Given the description of an element on the screen output the (x, y) to click on. 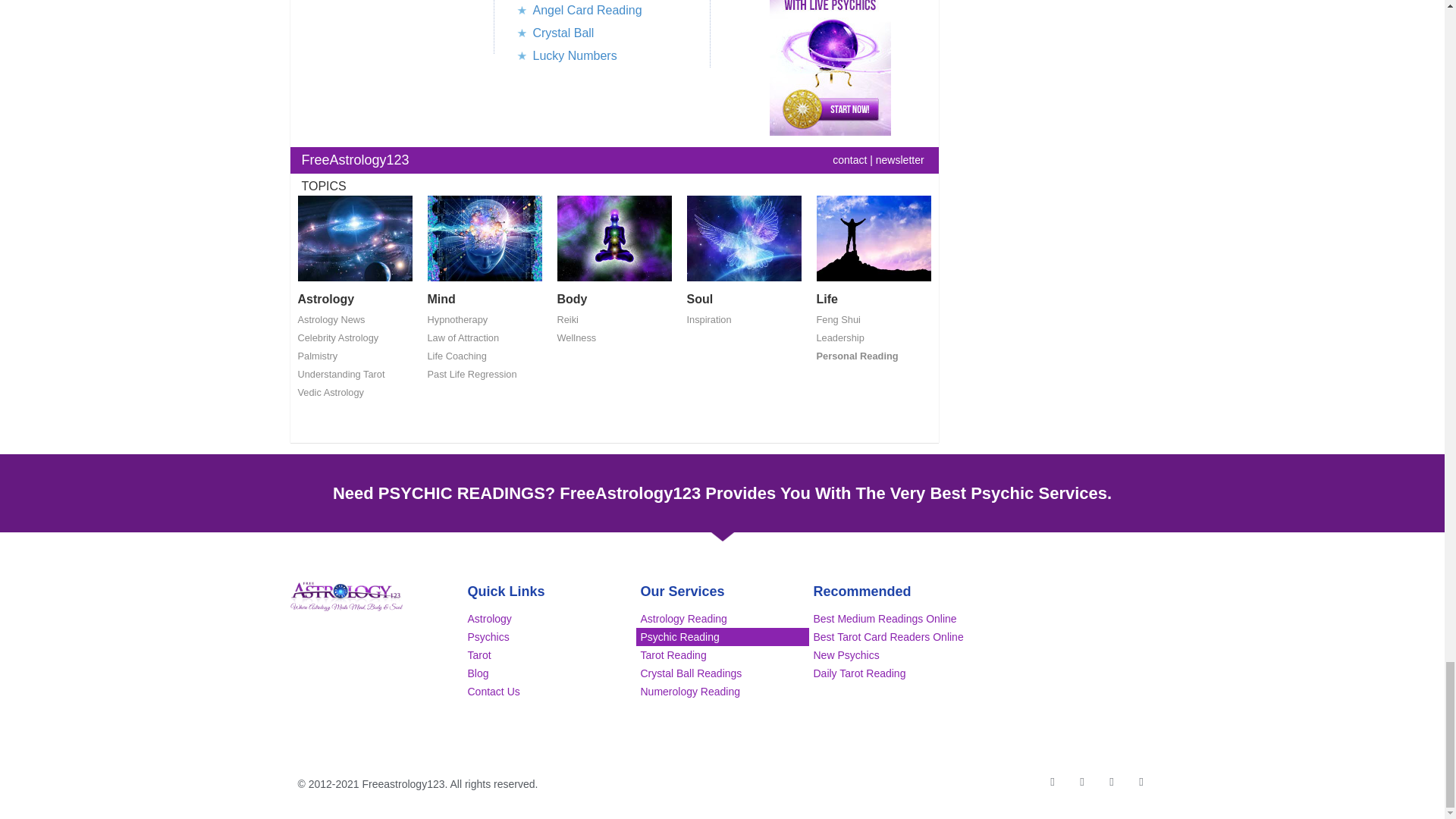
Body Blog Posts (613, 242)
Life Blog Posts (872, 242)
Angel Card Reading (587, 10)
Lucky Numbers (573, 55)
Soul Blog Posts (744, 242)
Psychic Chat (830, 67)
Psychic Readings (829, 67)
Crystal Ball (563, 32)
Astrology Blog Posts (354, 242)
Mind Blog Posts (484, 242)
